Given the description of an element on the screen output the (x, y) to click on. 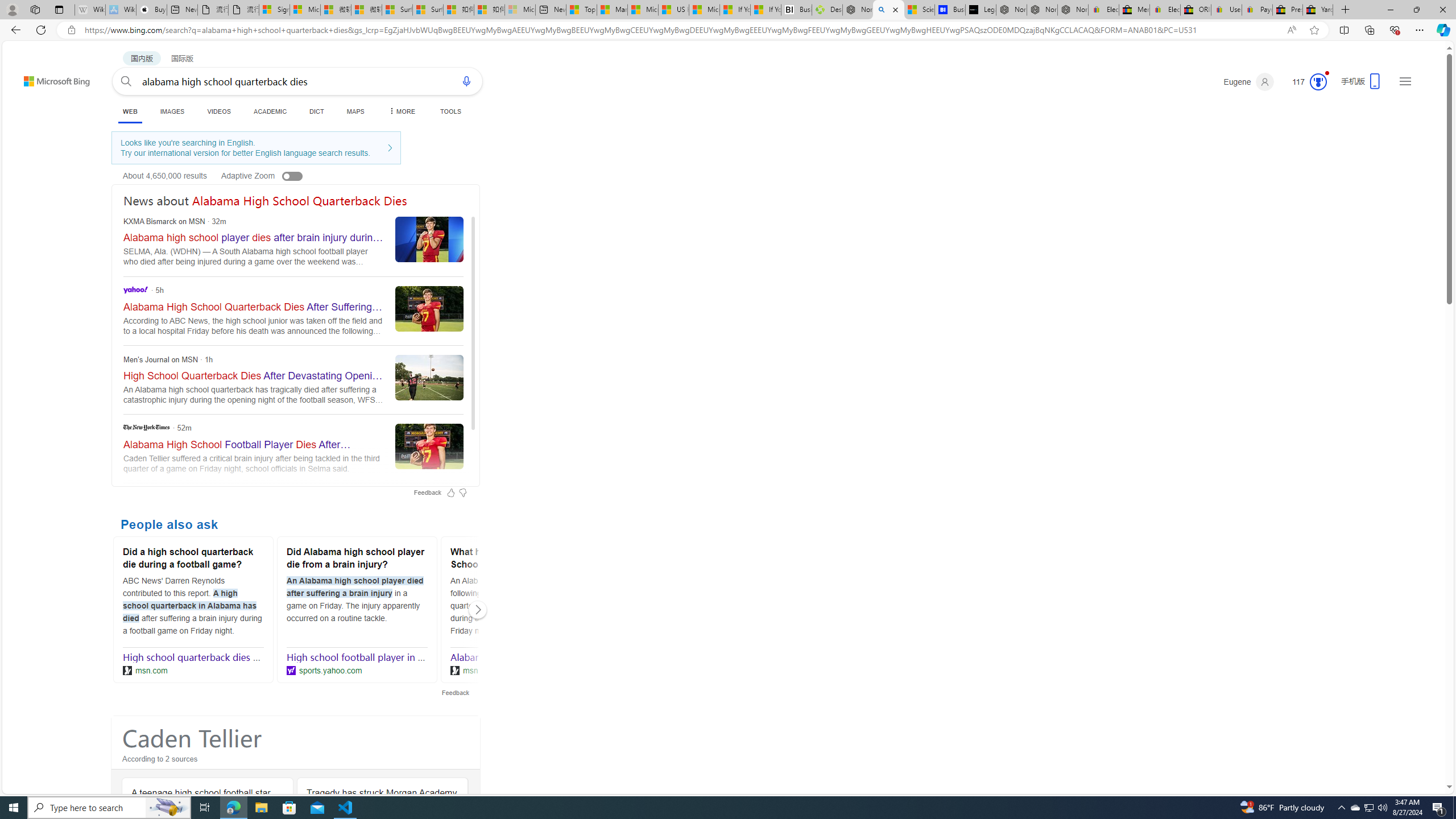
TOOLS (450, 111)
Settings and quick links (1404, 80)
WEB (129, 112)
wqad (293, 517)
Search using voice (465, 80)
